Given the description of an element on the screen output the (x, y) to click on. 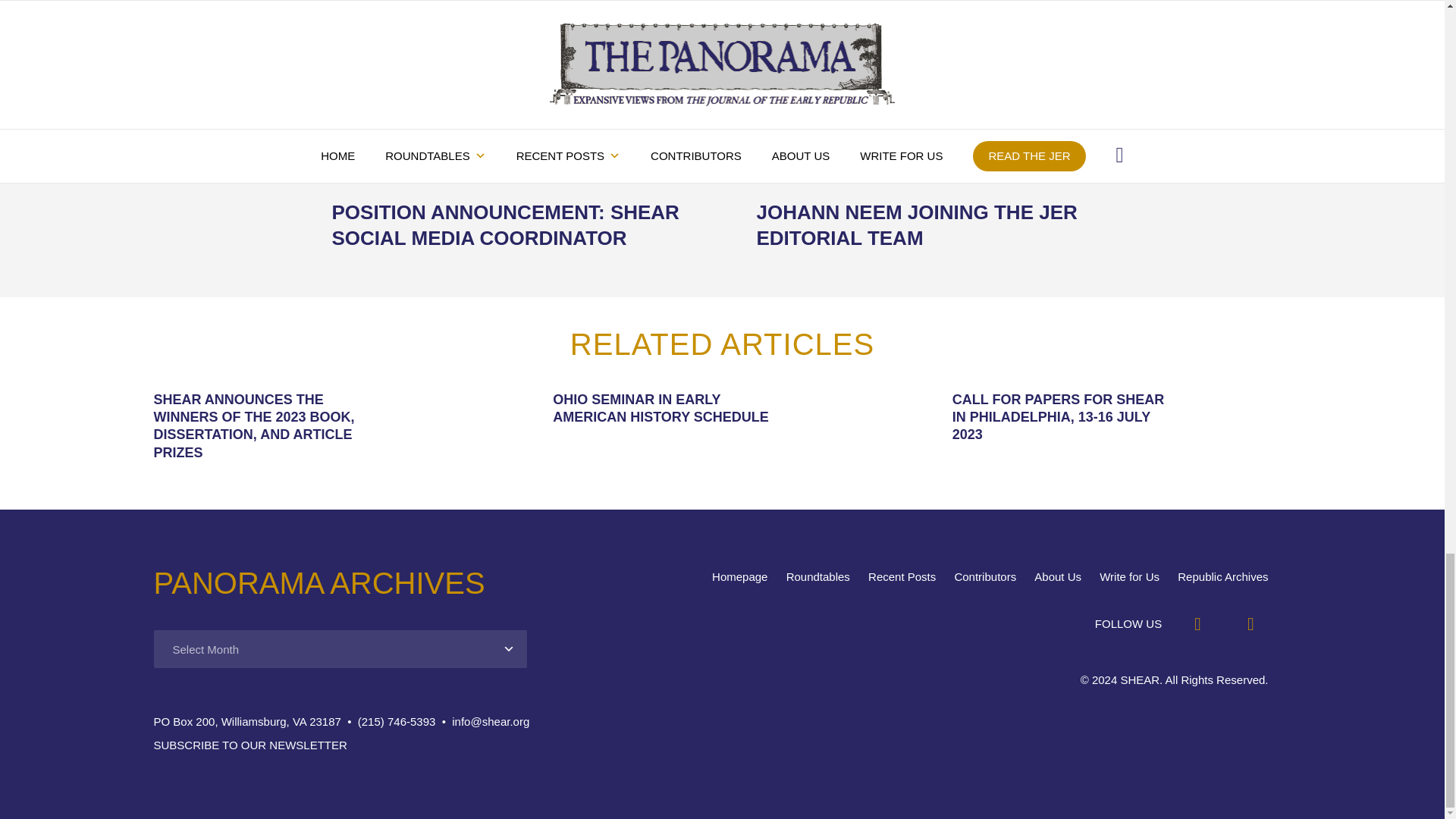
Facebook (1196, 623)
Twitter (1250, 623)
